Given the description of an element on the screen output the (x, y) to click on. 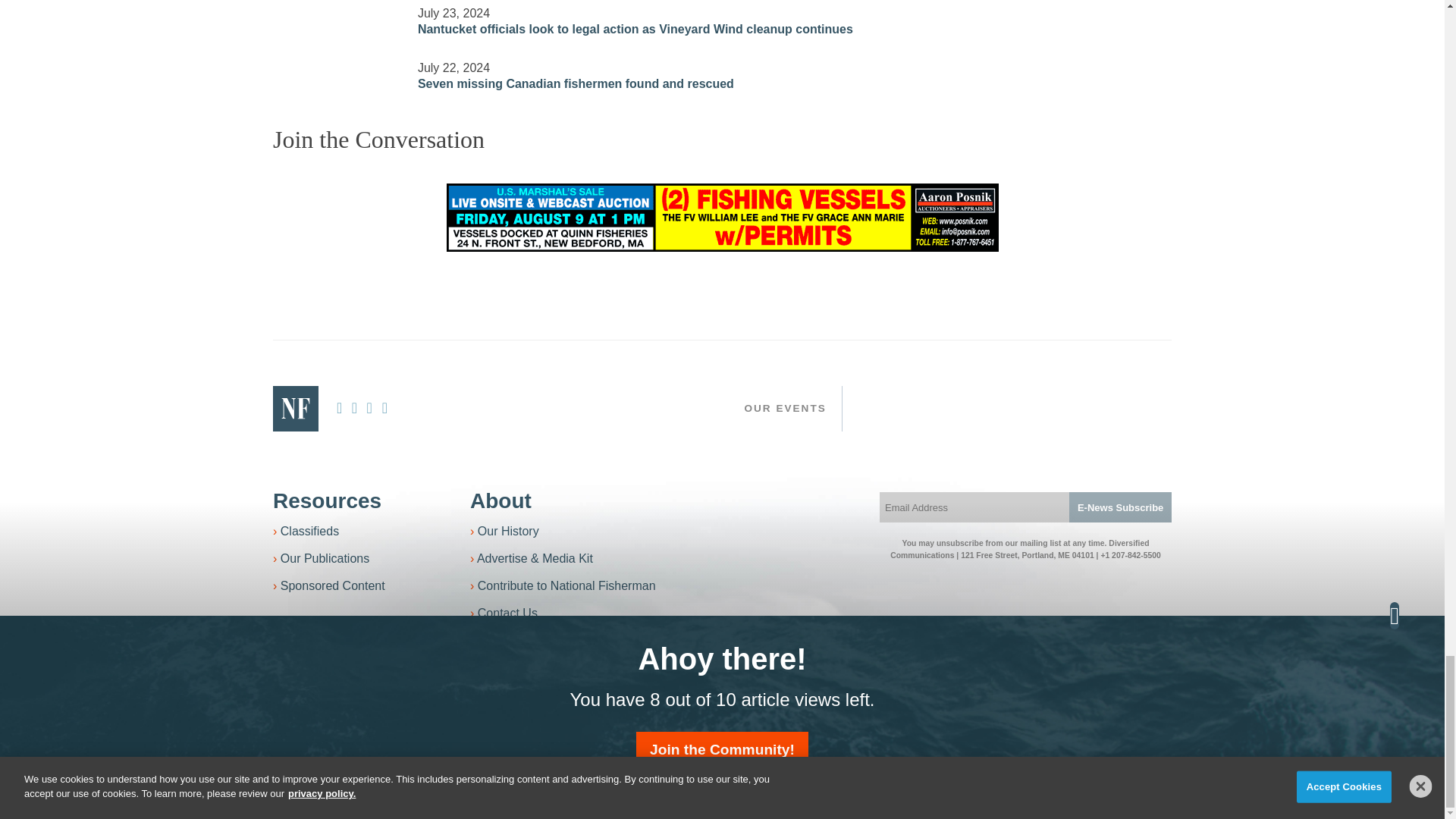
Seven missing Canadian fishermen found and rescued (335, 66)
